Given the description of an element on the screen output the (x, y) to click on. 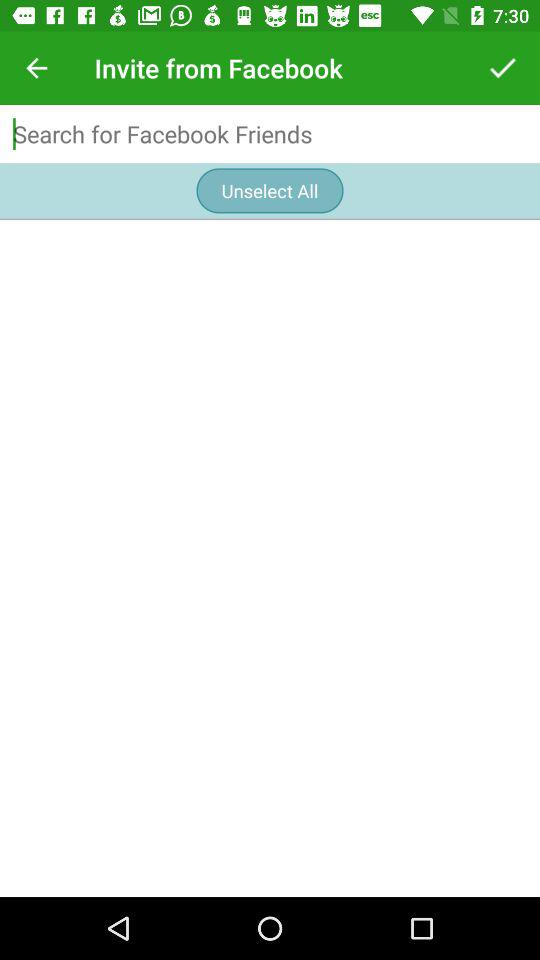
swipe until unselect all icon (269, 190)
